Given the description of an element on the screen output the (x, y) to click on. 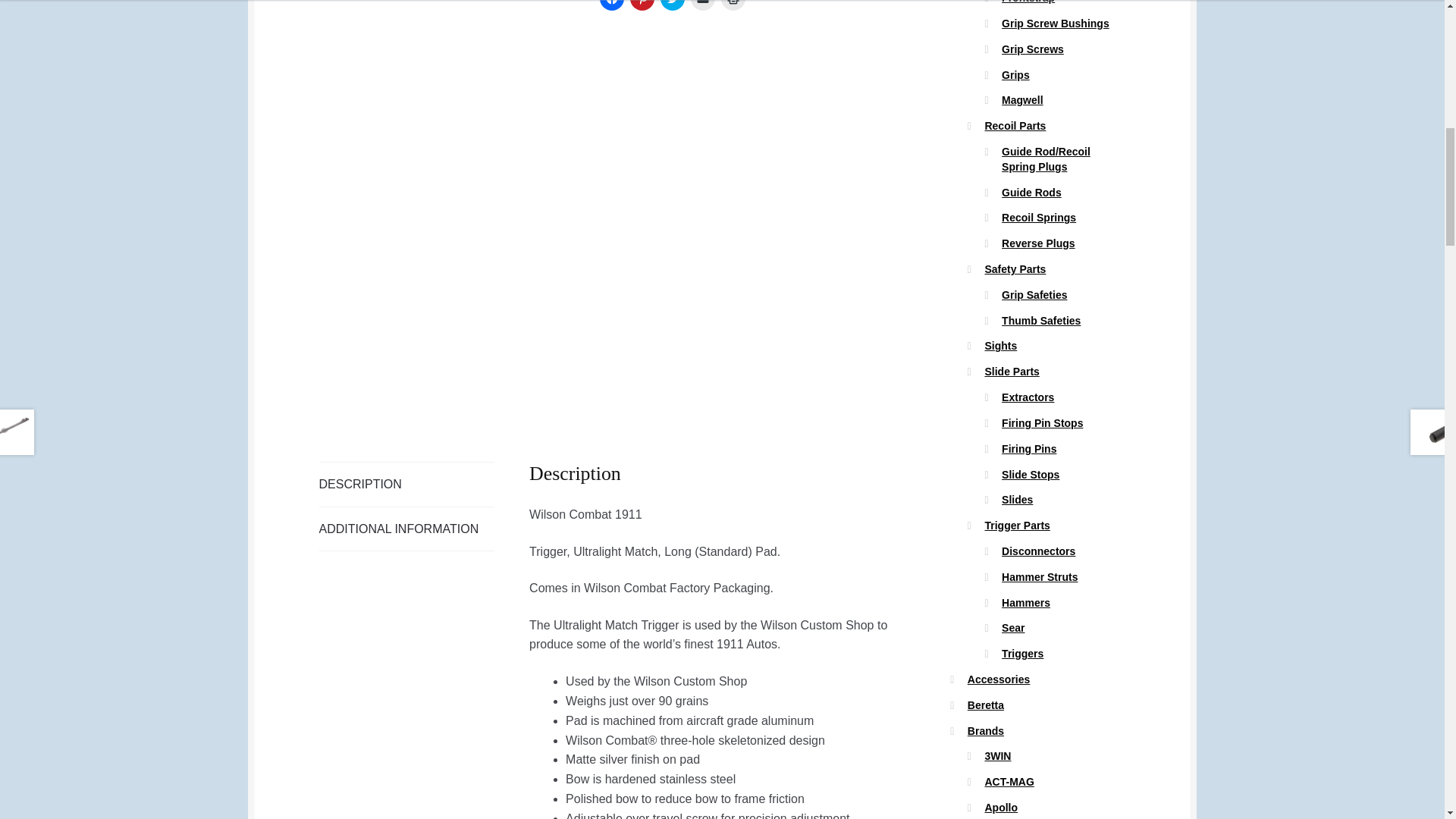
Click to share on Twitter (672, 5)
Click to share on Pinterest (641, 5)
Click to print (732, 5)
Click to email a link to a friend (702, 5)
Click to share on Facebook (611, 5)
